Given the description of an element on the screen output the (x, y) to click on. 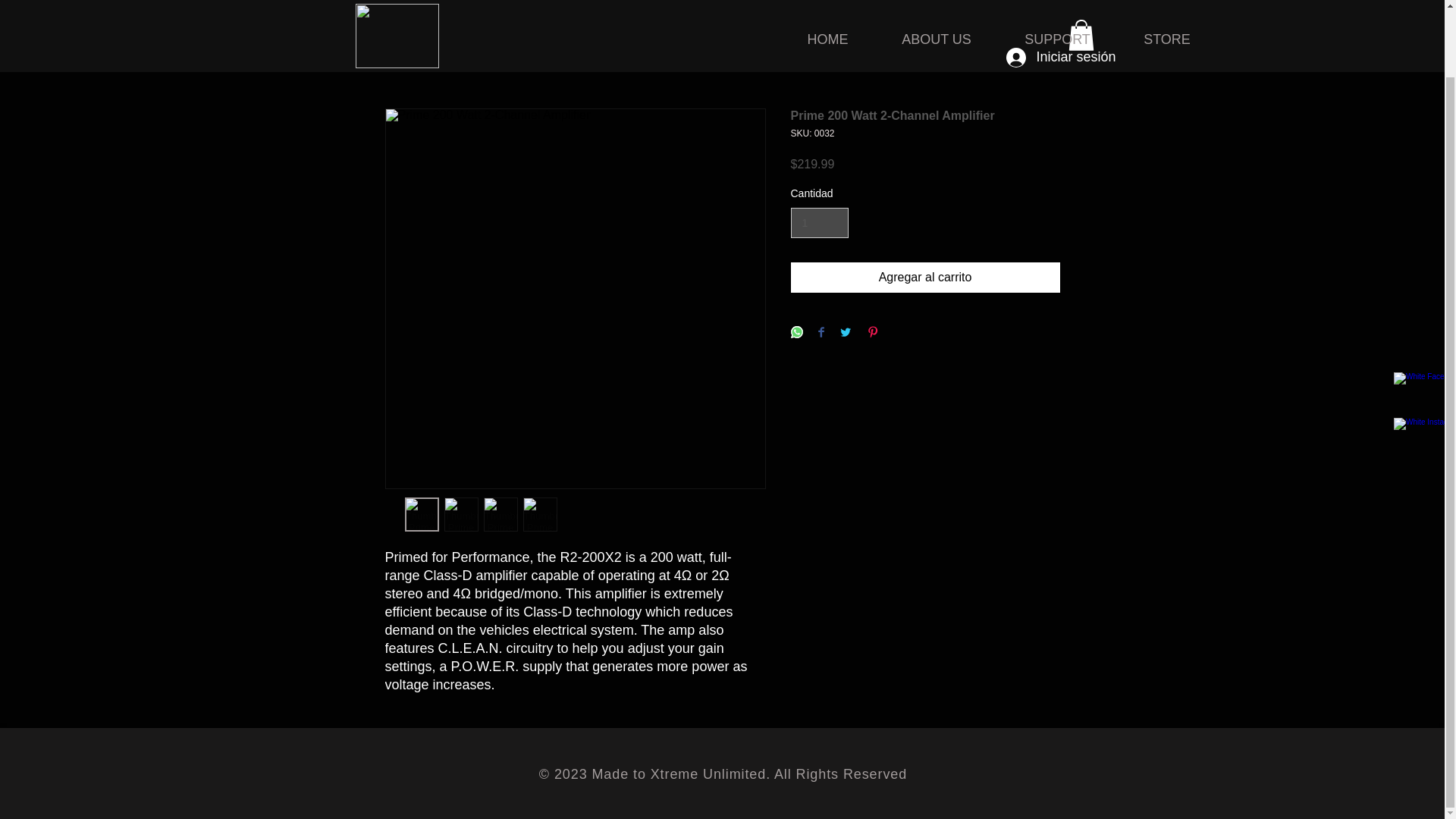
1 (818, 223)
Agregar al carrito (924, 277)
